Given the description of an element on the screen output the (x, y) to click on. 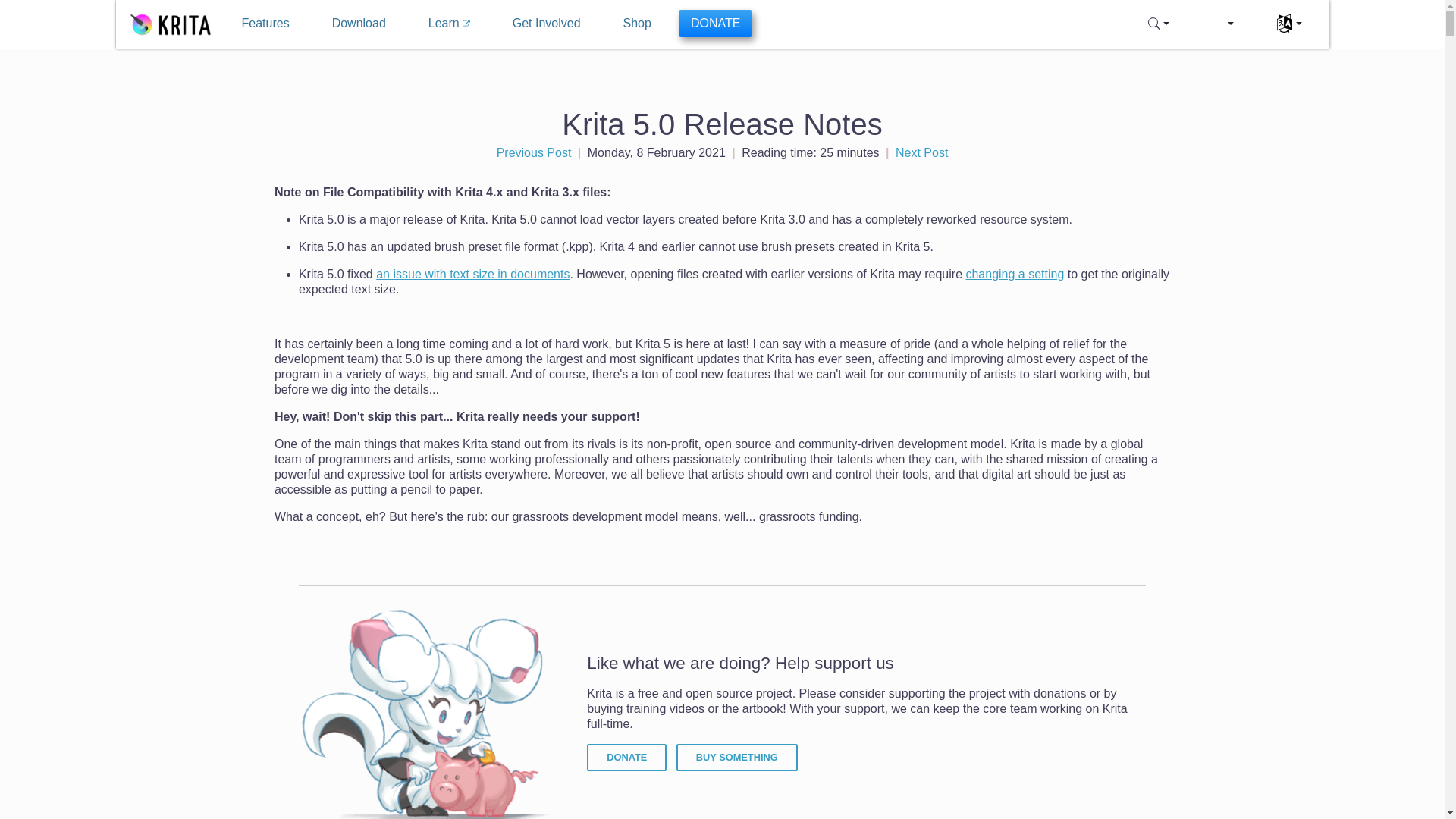
Features (264, 23)
Get Involved (546, 23)
DONATE (715, 22)
Previous Post (534, 152)
BUY SOMETHING (737, 757)
Shop (637, 23)
DONATE (626, 757)
Download (359, 23)
changing a setting (1014, 273)
Learn (448, 23)
Next Post (921, 152)
an issue with text size in documents (472, 273)
